Given the description of an element on the screen output the (x, y) to click on. 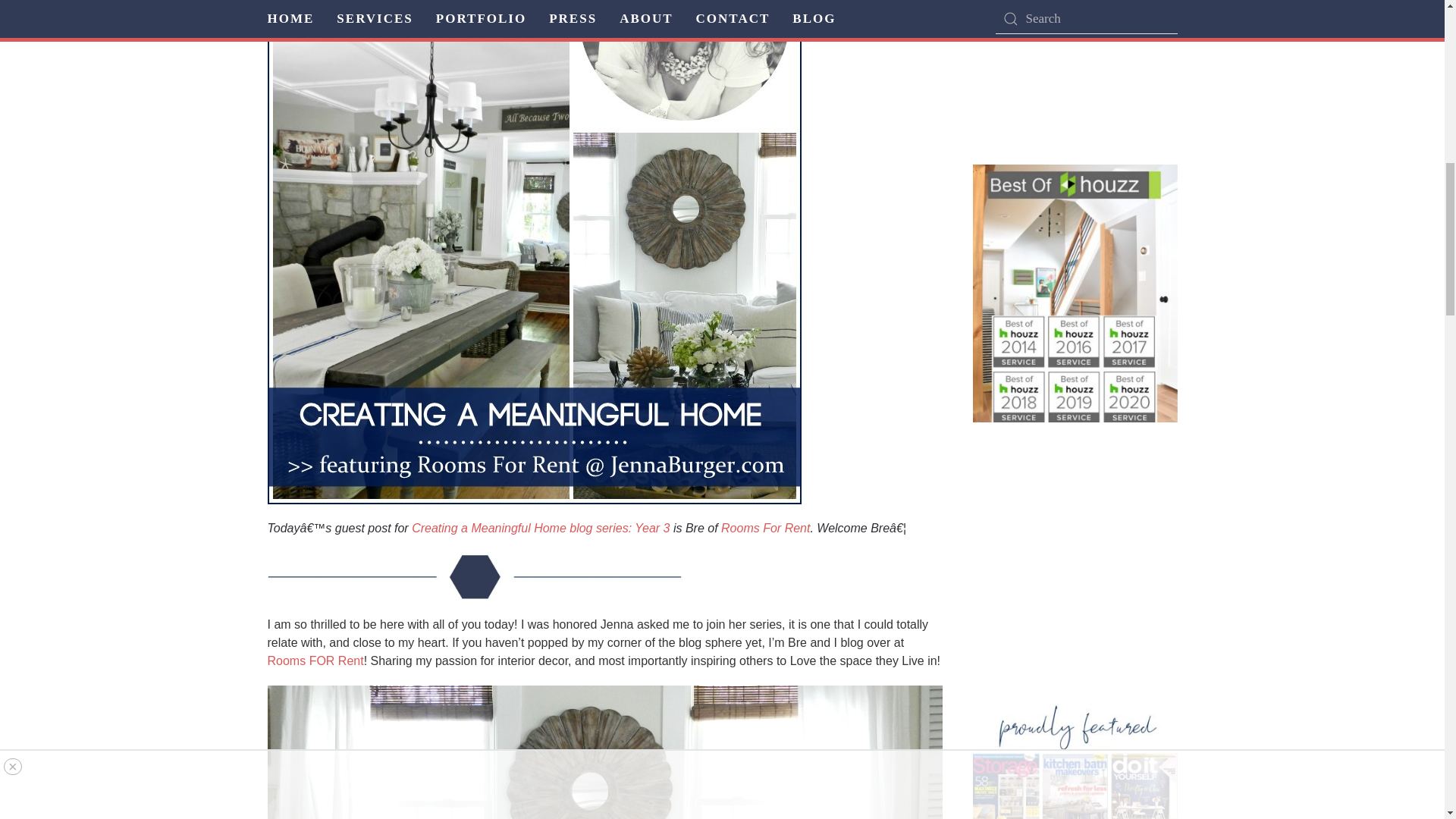
Rooms FOR Rent (314, 660)
Creating a Meaningful Home blog series: Year 3 (540, 527)
Rooms For Rent (764, 527)
